Given the description of an element on the screen output the (x, y) to click on. 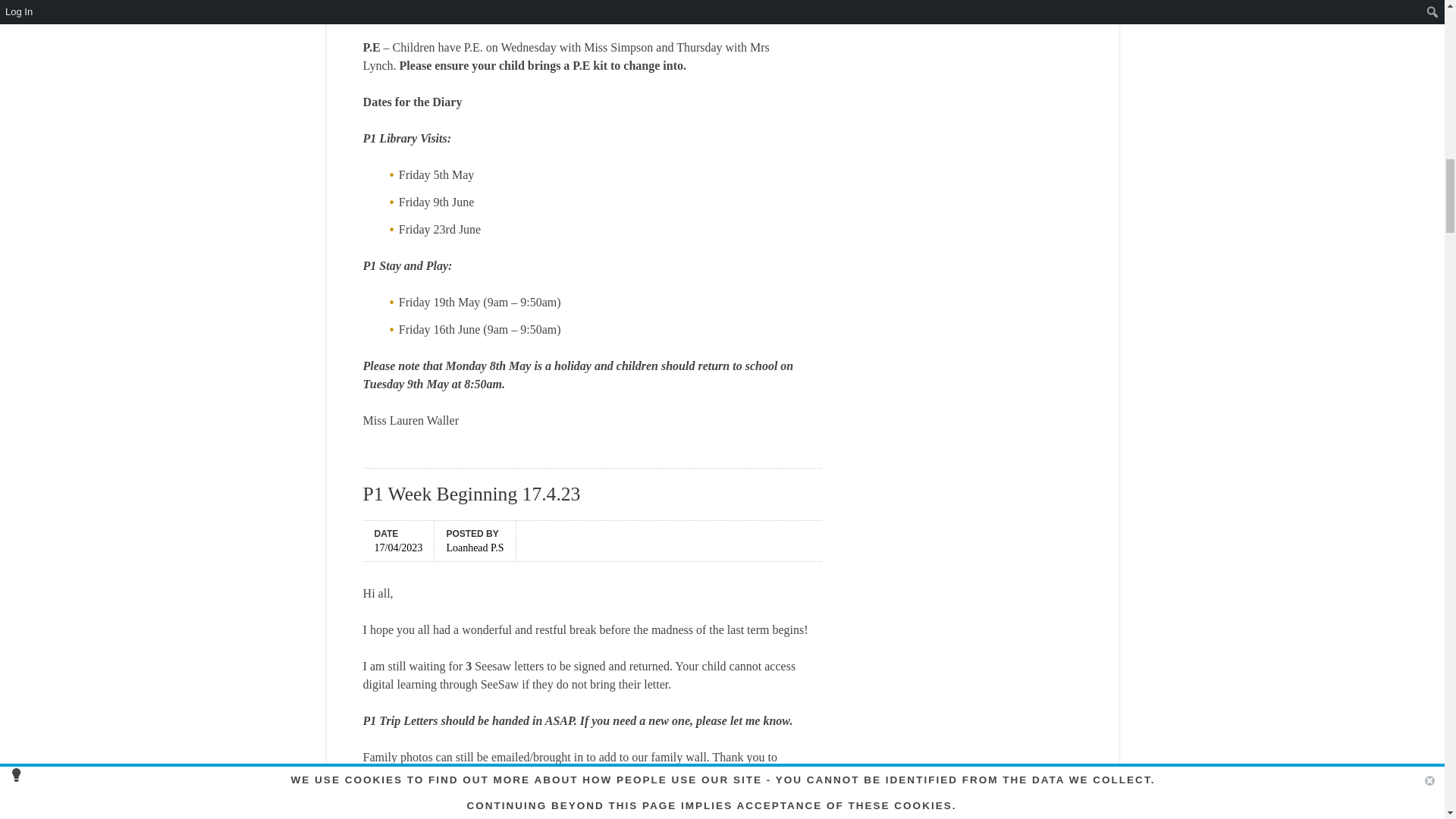
Permalink to P1 Week Beginning 17.4.23 (471, 494)
8:04 pm (398, 545)
View all posts by Loanhead P.S (474, 545)
